Given the description of an element on the screen output the (x, y) to click on. 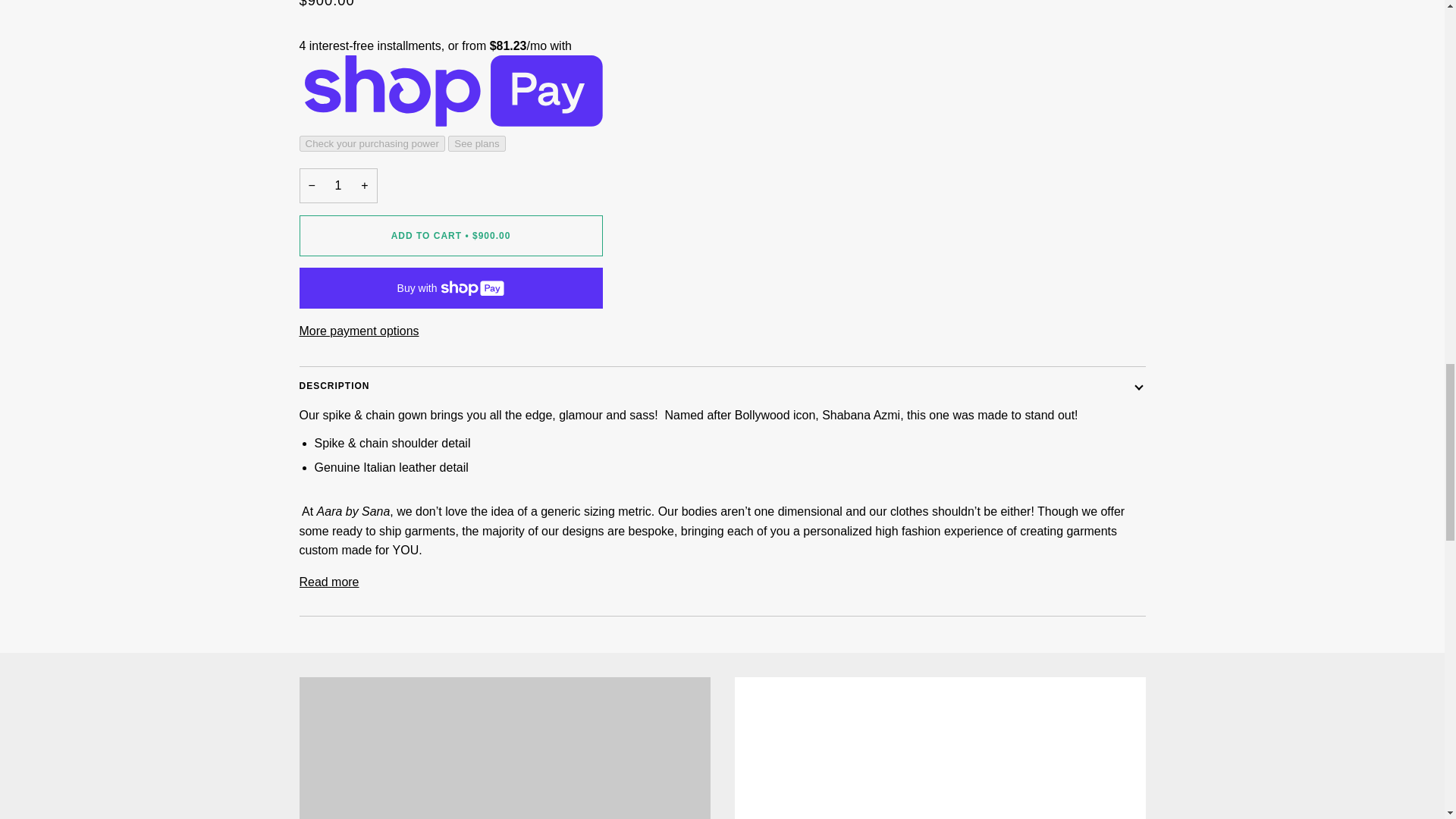
1 (337, 185)
